Given the description of an element on the screen output the (x, y) to click on. 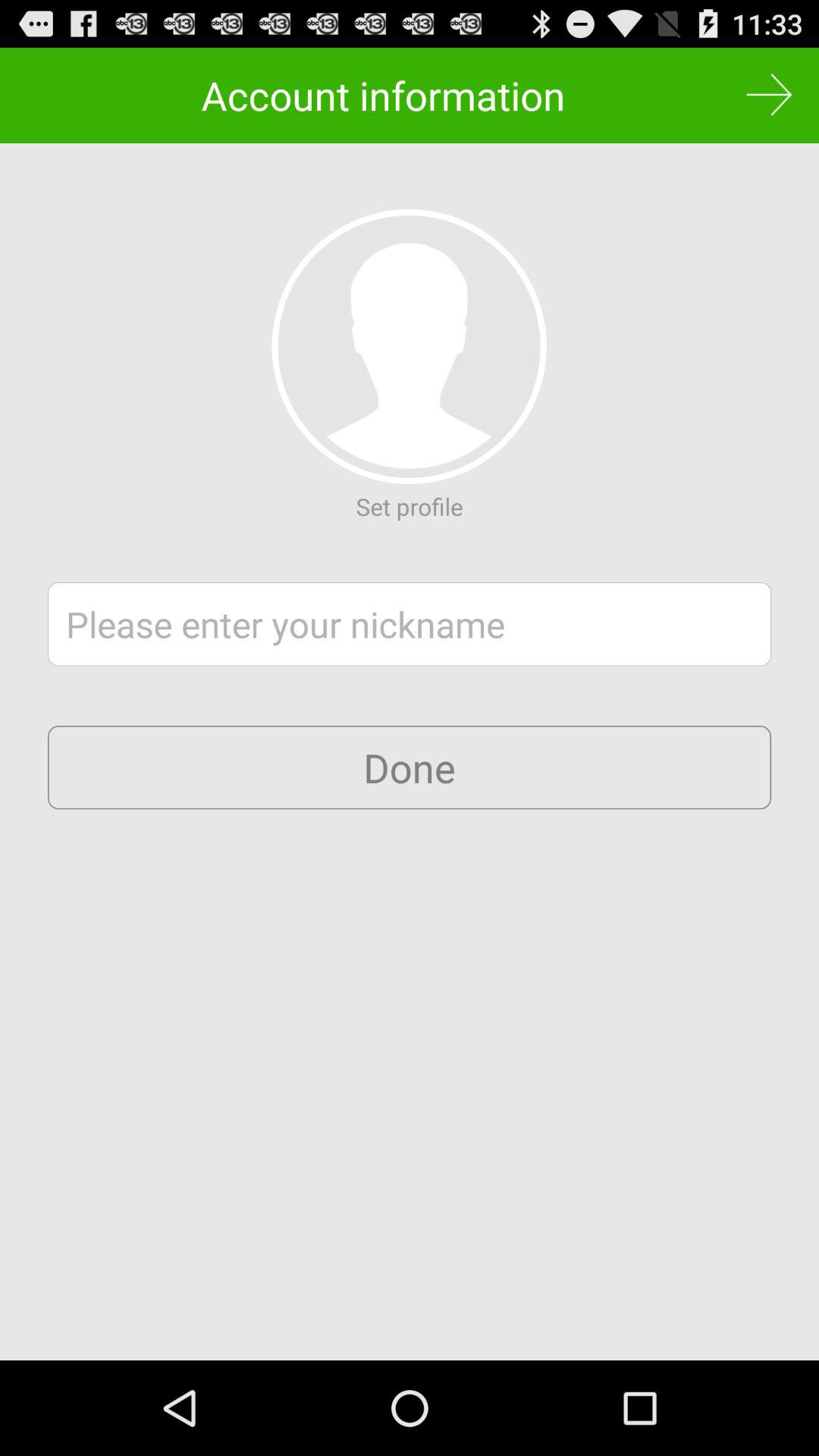
turn off item to the right of the account information icon (769, 95)
